Given the description of an element on the screen output the (x, y) to click on. 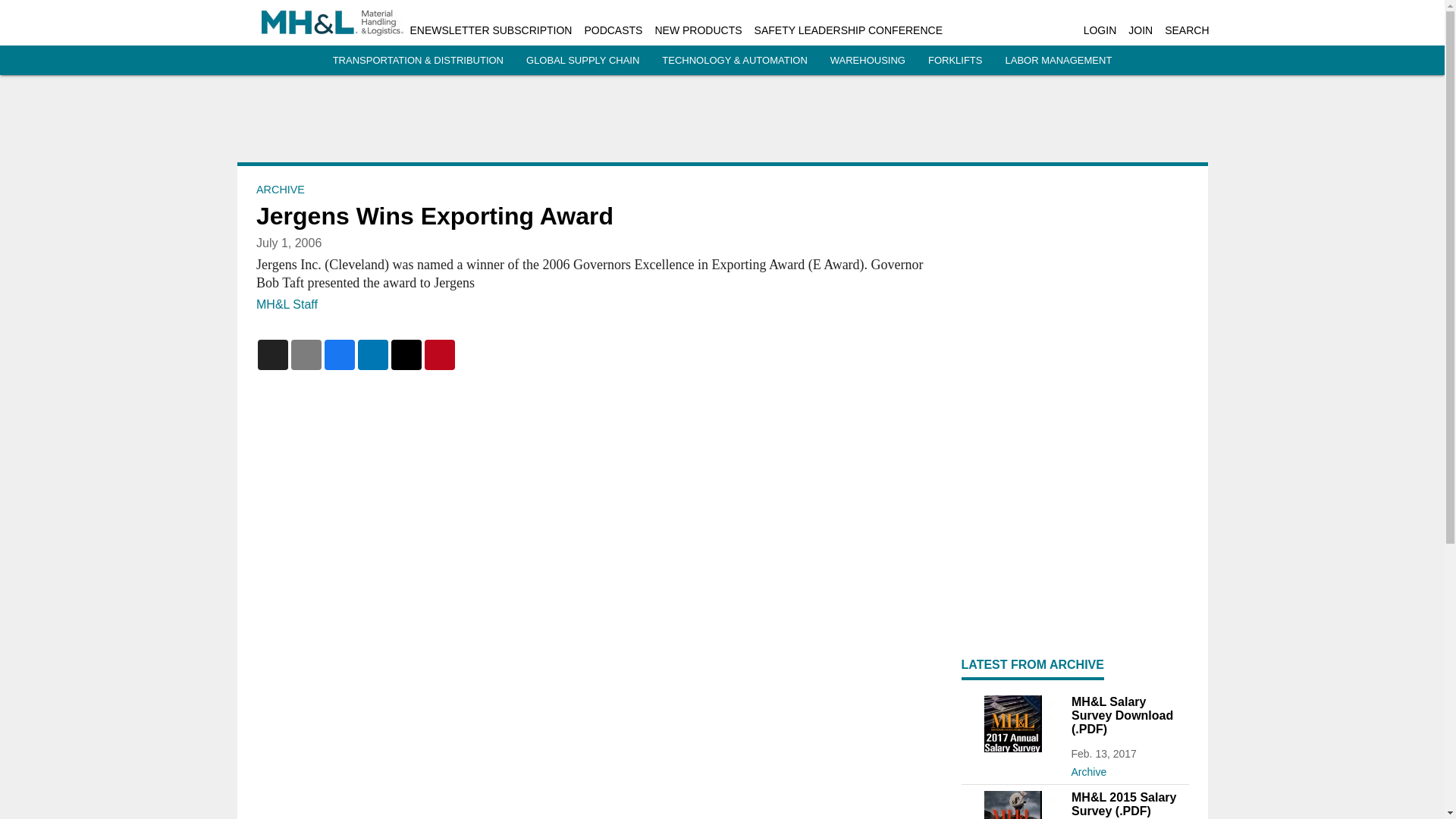
JOIN (1140, 30)
GLOBAL SUPPLY CHAIN (582, 60)
LABOR MANAGEMENT (1058, 60)
FORKLIFTS (955, 60)
ENEWSLETTER SUBSCRIPTION (490, 30)
PODCASTS (612, 30)
SEARCH (1186, 30)
ARCHIVE (280, 189)
LOGIN (1099, 30)
